Given the description of an element on the screen output the (x, y) to click on. 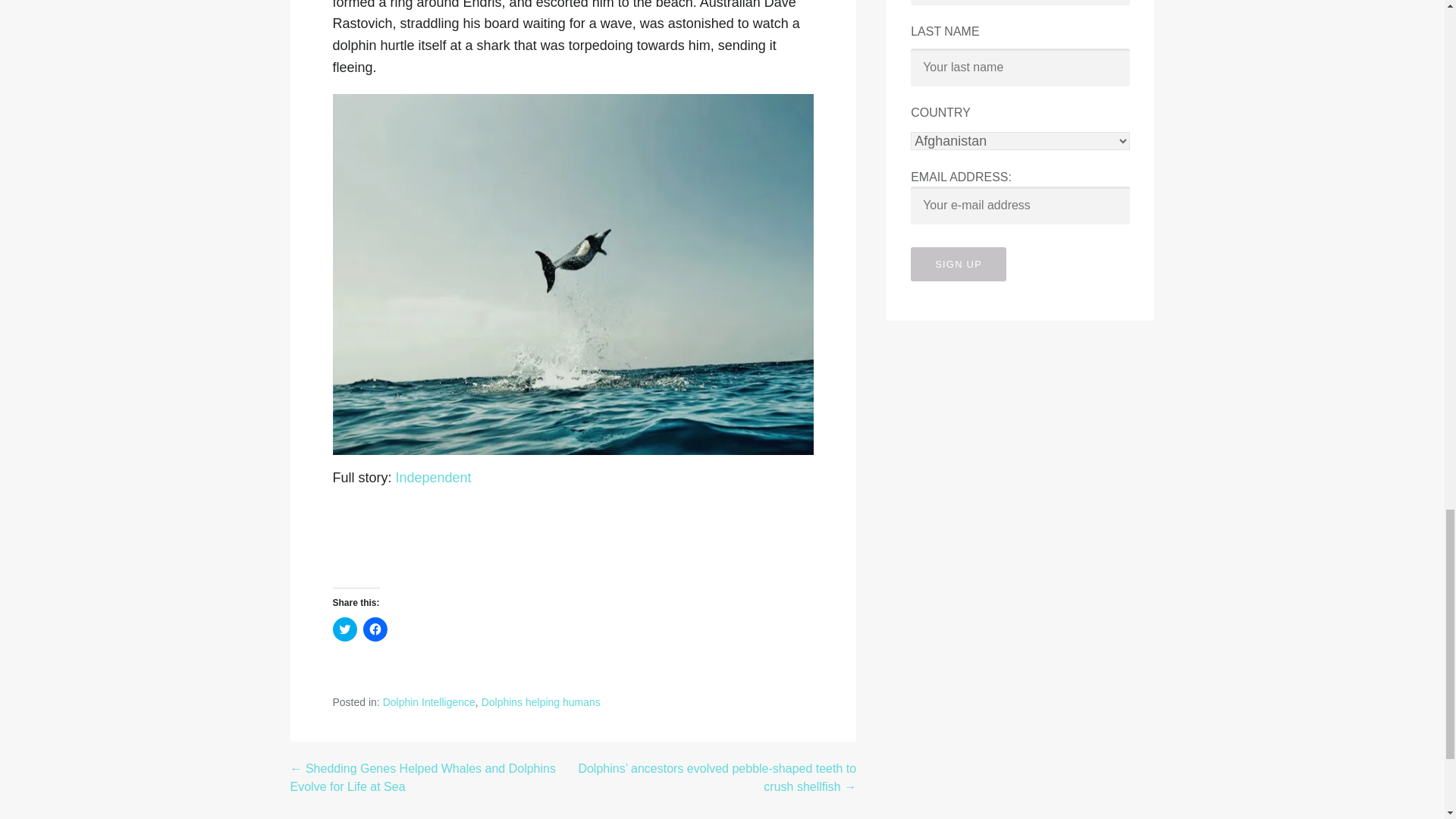
Click to share on Twitter (343, 629)
Sign up (958, 264)
Click to share on Facebook (374, 629)
